Given the description of an element on the screen output the (x, y) to click on. 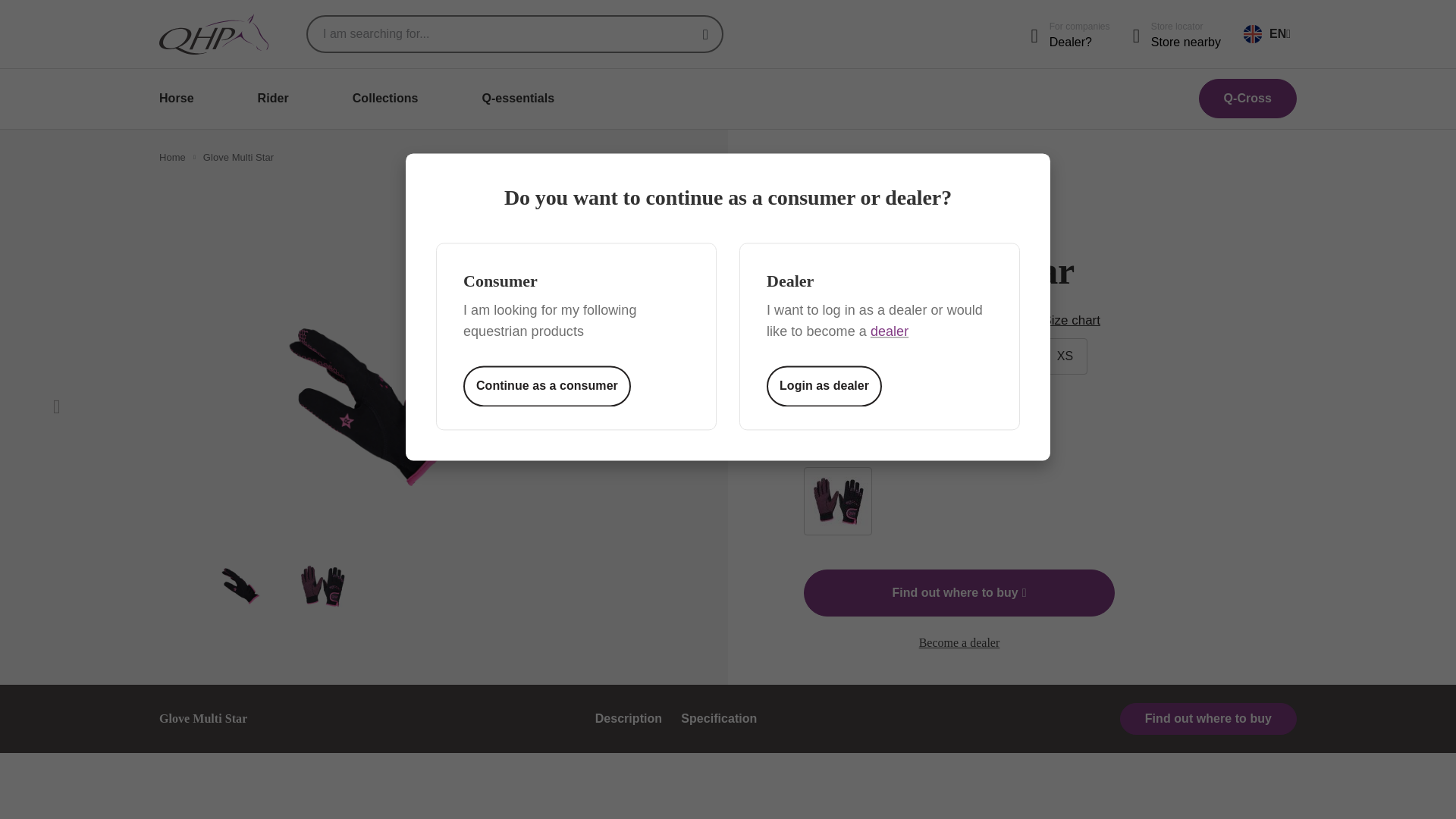
Specification (719, 717)
Dealer? (1079, 42)
Description (628, 717)
Search (705, 34)
Store nearby (1186, 42)
Search (705, 34)
Store nearby (1186, 42)
Horse (175, 97)
Horse (175, 97)
Become a dealer (1079, 42)
